Given the description of an element on the screen output the (x, y) to click on. 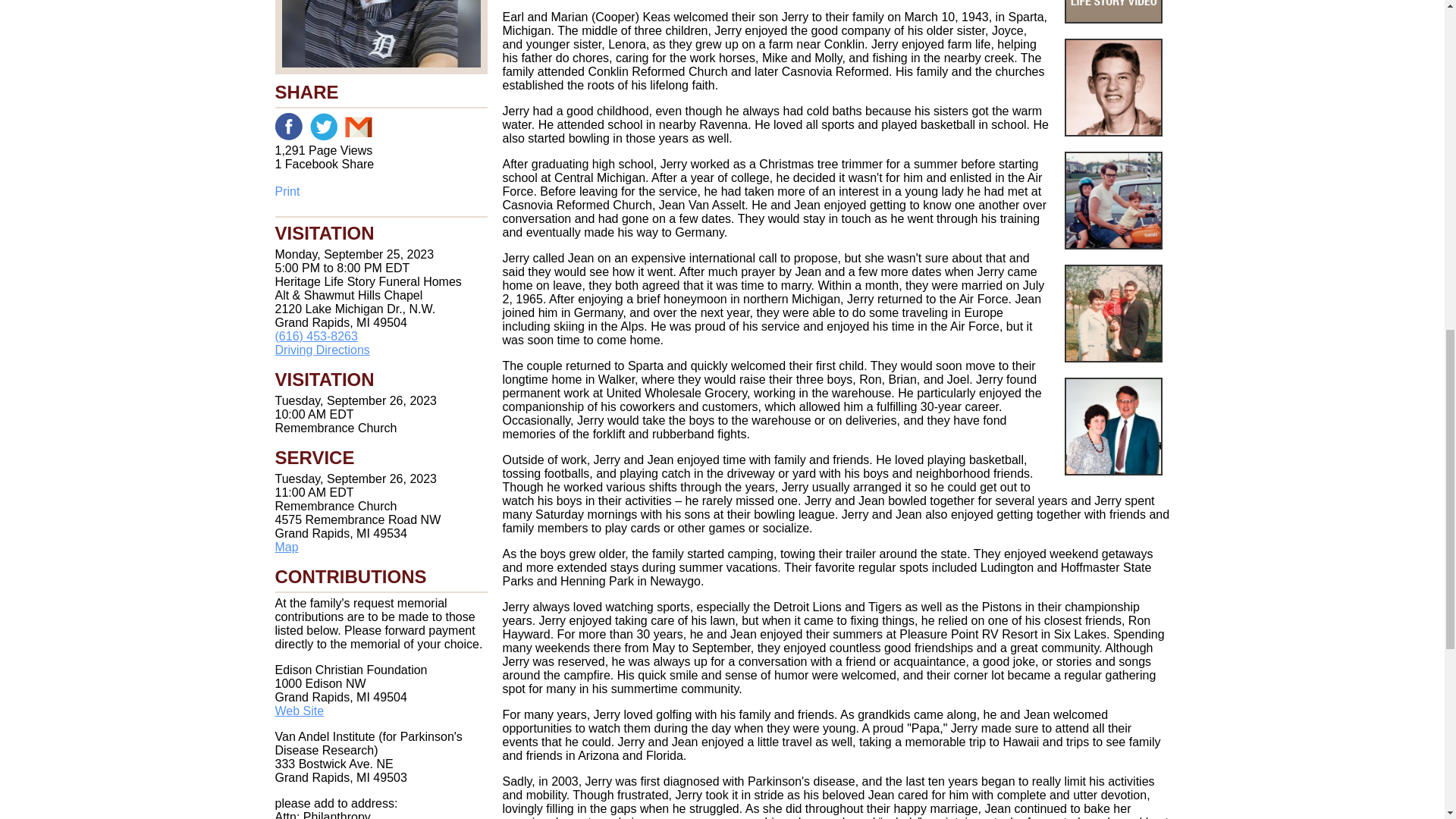
Facebook (288, 126)
Jerry Keas picture 4 (1112, 426)
Print (380, 192)
Jerry Keas picture 3 (1112, 313)
Map (286, 546)
Jerry Keas (380, 37)
Email (357, 126)
Jerry Keas picture 1 (1112, 87)
View Life Story Video (1112, 11)
Jerry Keas picture 2 (1112, 200)
